Given the description of an element on the screen output the (x, y) to click on. 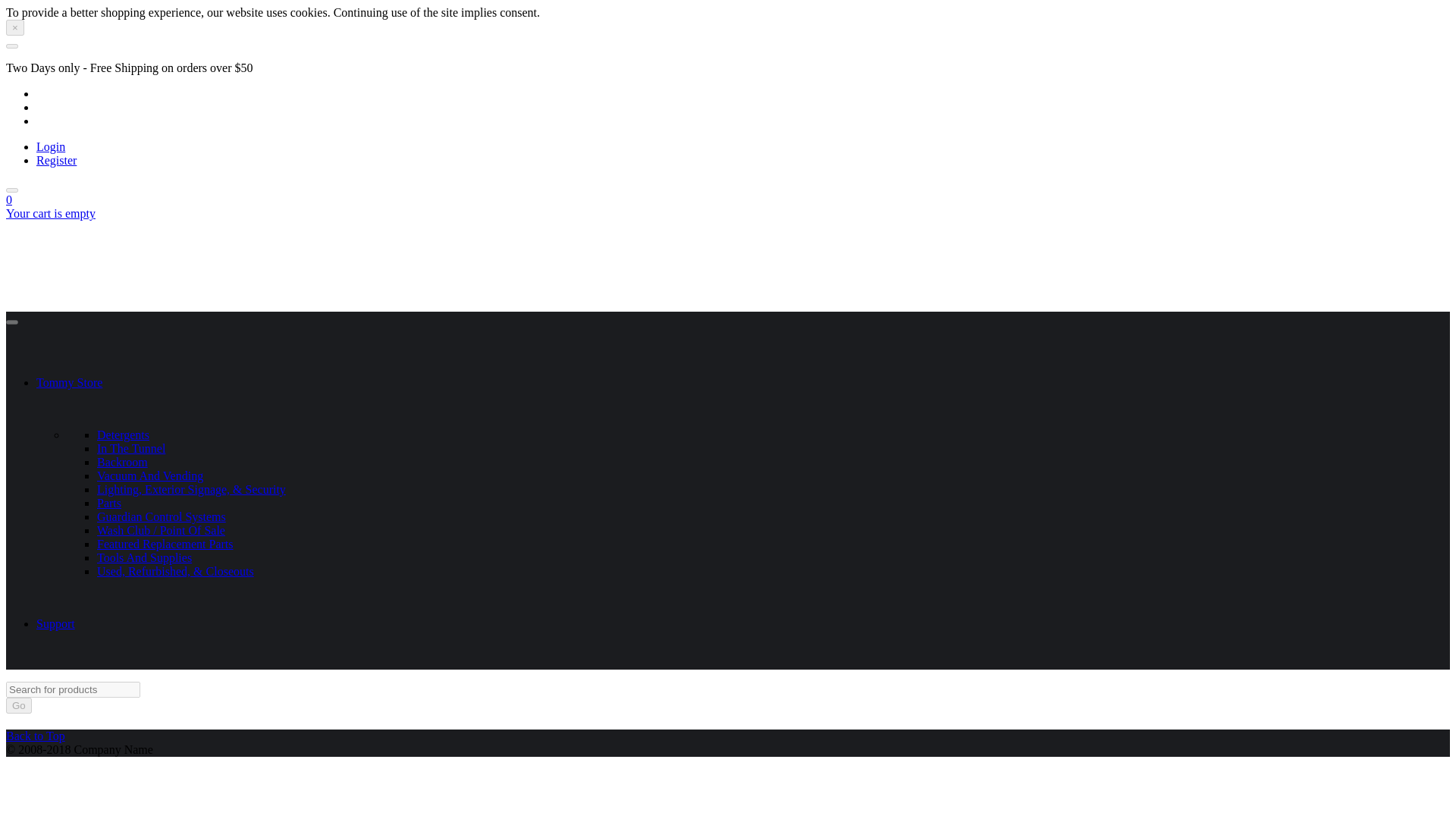
Detergents (123, 434)
In The Tunnel (131, 448)
Tommy Store (68, 382)
Backroom (122, 461)
Vacuum And Vending (150, 475)
Go (18, 705)
Parts (108, 502)
Search (11, 322)
Login (50, 146)
Tools And Supplies (144, 557)
Register (56, 160)
Search (11, 190)
Support (55, 623)
Back to Top (35, 735)
Guardian Control Systems (161, 516)
